Given the description of an element on the screen output the (x, y) to click on. 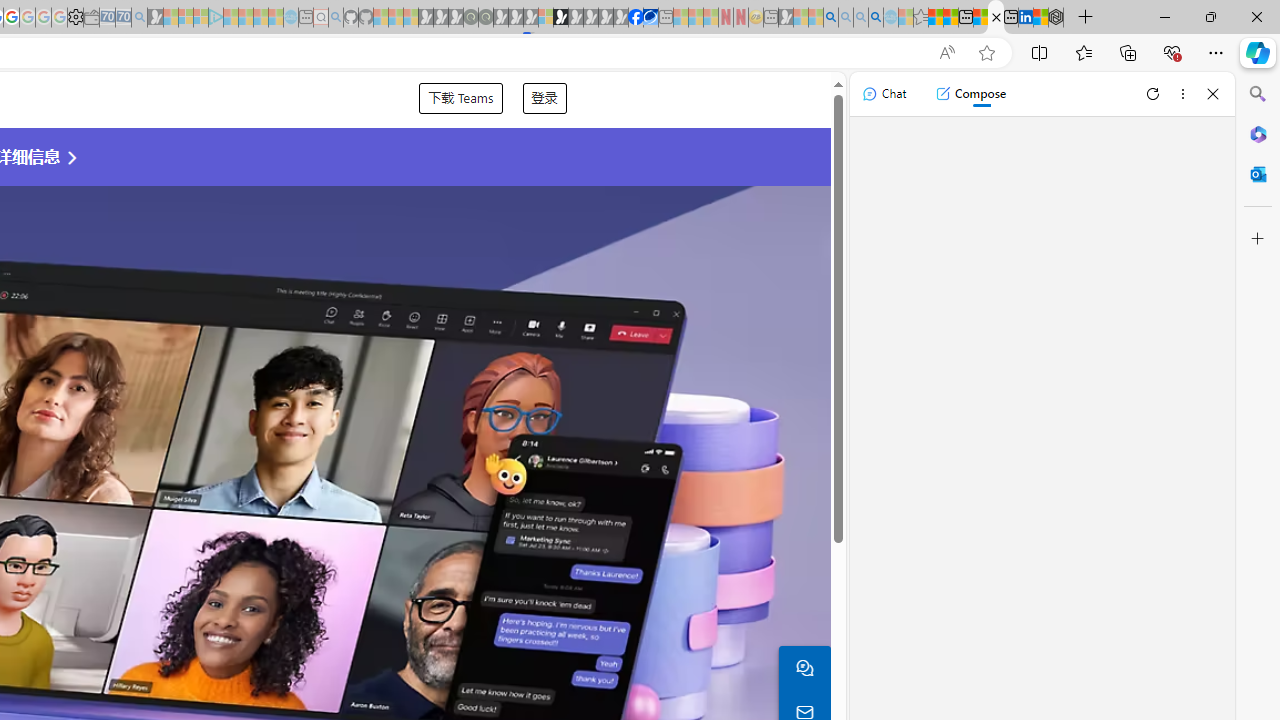
Aberdeen, Hong Kong SAR weather forecast | Microsoft Weather (950, 17)
Microsoft Start Gaming - Sleeping (155, 17)
Cheap Car Rentals - Save70.com - Sleeping (123, 17)
Close Customize pane (1258, 239)
Favorites - Sleeping (920, 17)
Google Chrome Internet Browser Download - Search Images (876, 17)
Future Focus Report 2024 - Sleeping (485, 17)
Home | Sky Blue Bikes - Sky Blue Bikes - Sleeping (291, 17)
